Given the description of an element on the screen output the (x, y) to click on. 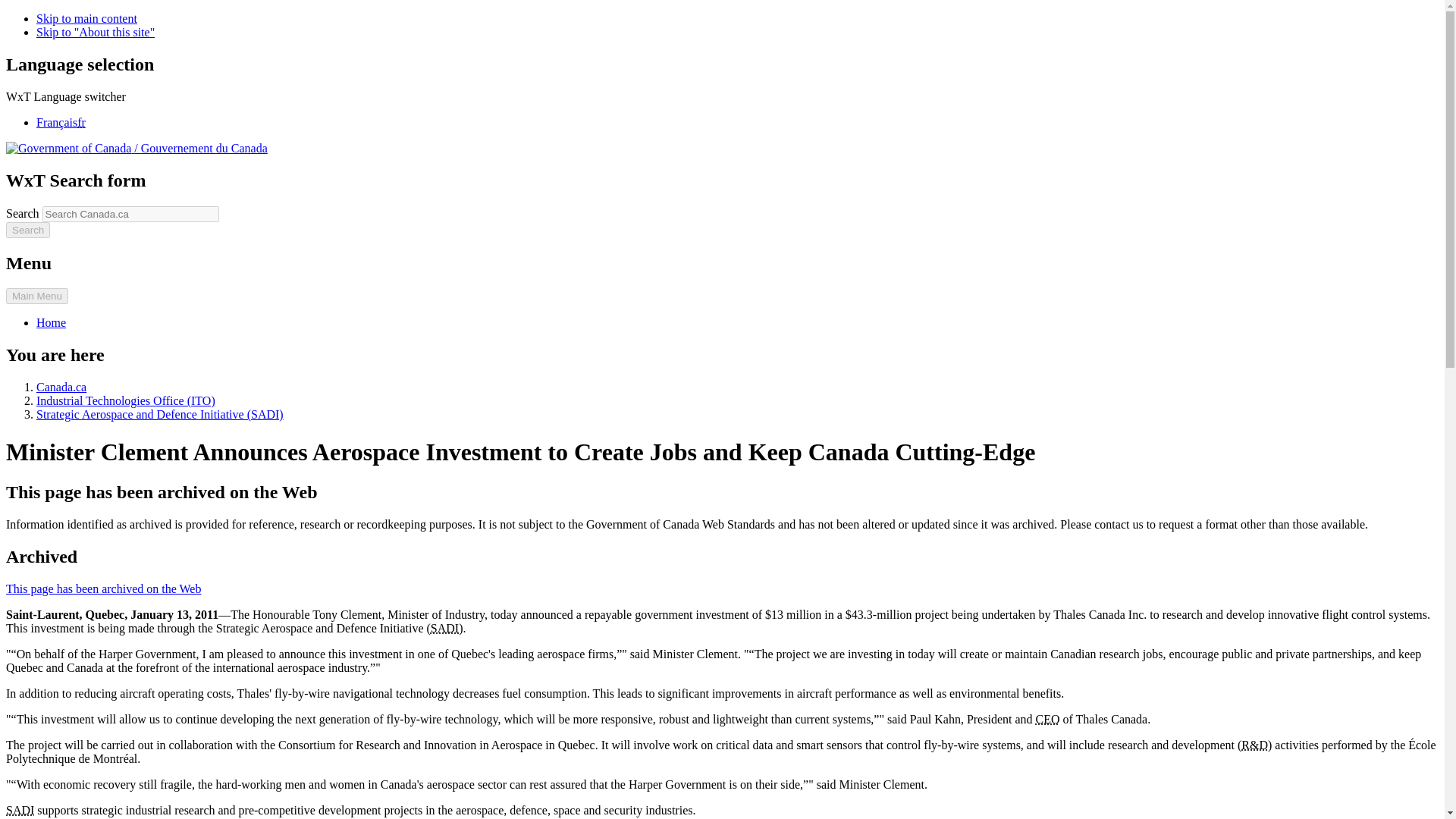
Strategic Aerospace and Defence Initiative (444, 627)
Main Menu (36, 295)
Canada.ca (60, 386)
Home (50, 322)
Search (27, 229)
This page has been archived on the Web (102, 588)
Search (27, 229)
Strategic Aerospace and Defence Initiative (19, 809)
research and development (1254, 744)
Skip to main content (86, 18)
Skip to "About this site" (95, 31)
Chief Executive Officer (1047, 718)
